Given the description of an element on the screen output the (x, y) to click on. 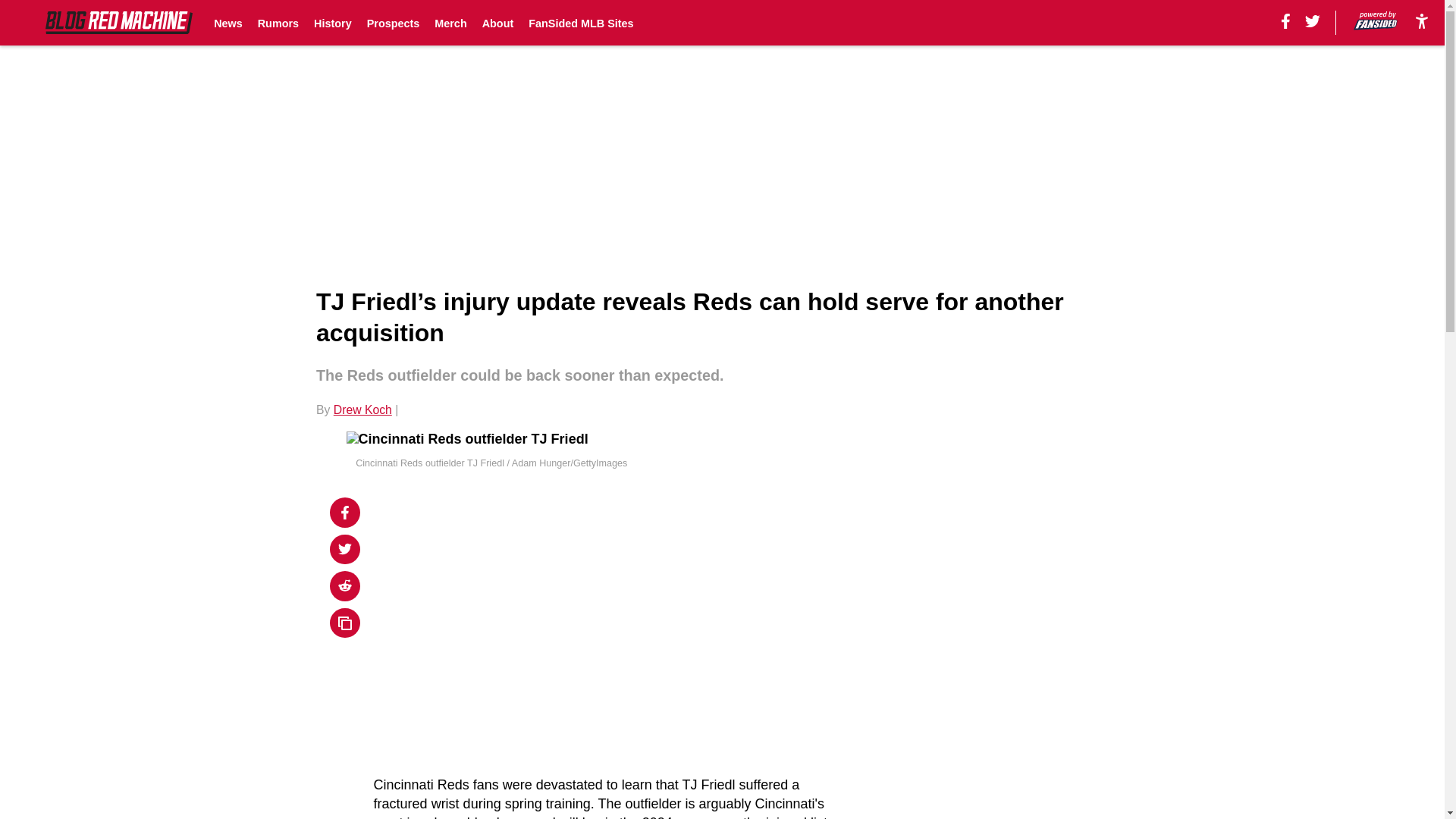
Merch (449, 23)
Rumors (277, 23)
About (497, 23)
FanSided MLB Sites (580, 23)
History (333, 23)
Drew Koch (362, 409)
News (228, 23)
Prospects (393, 23)
